Given the description of an element on the screen output the (x, y) to click on. 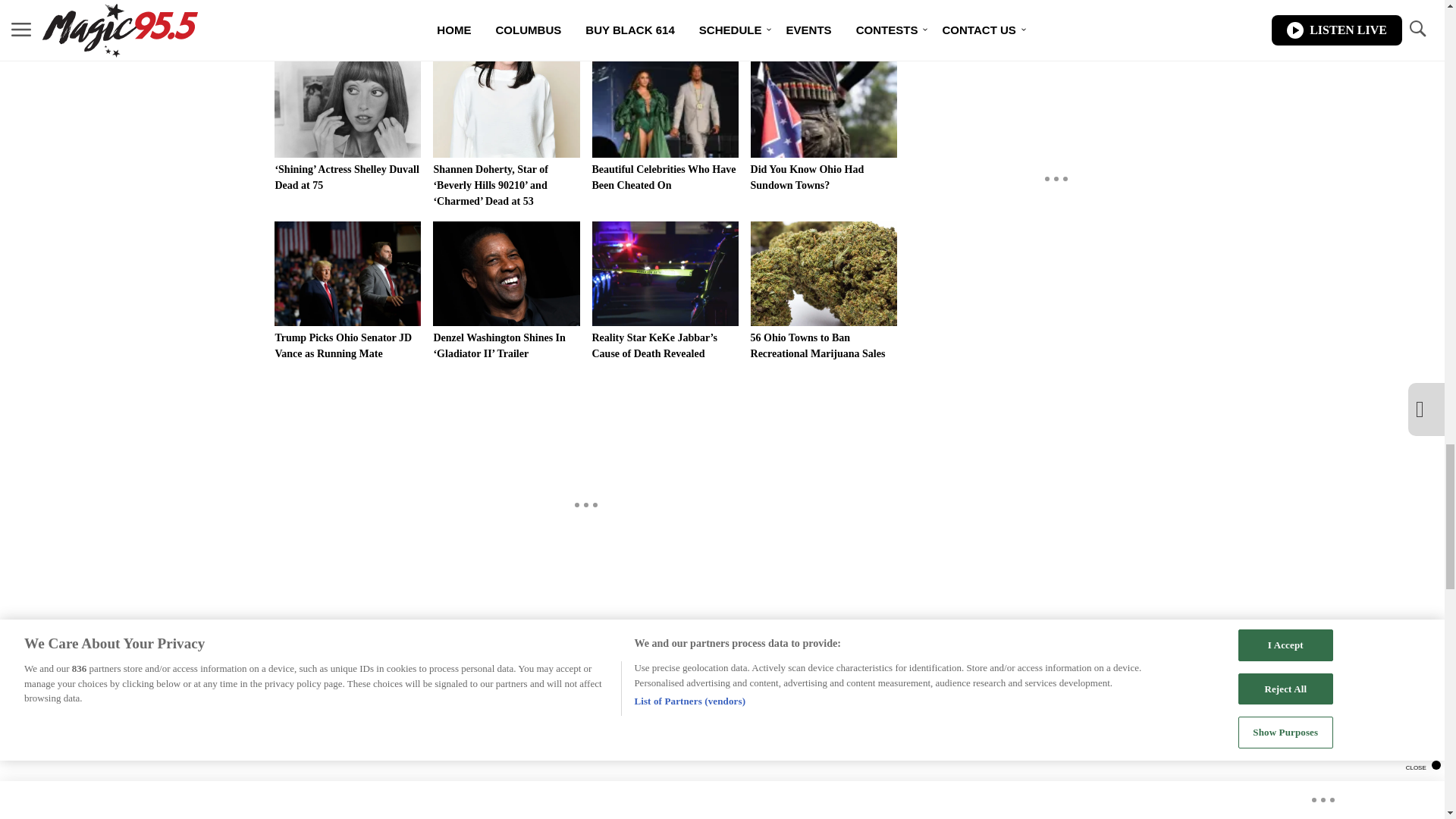
Vuukle Comments Widget (585, 733)
Beautiful Celebrities Who Have Been Cheated On (664, 123)
Trump Picks Ohio Senator JD Vance as Running Mate (347, 291)
Did You Know Ohio Had Sundown Towns? (823, 123)
